Given the description of an element on the screen output the (x, y) to click on. 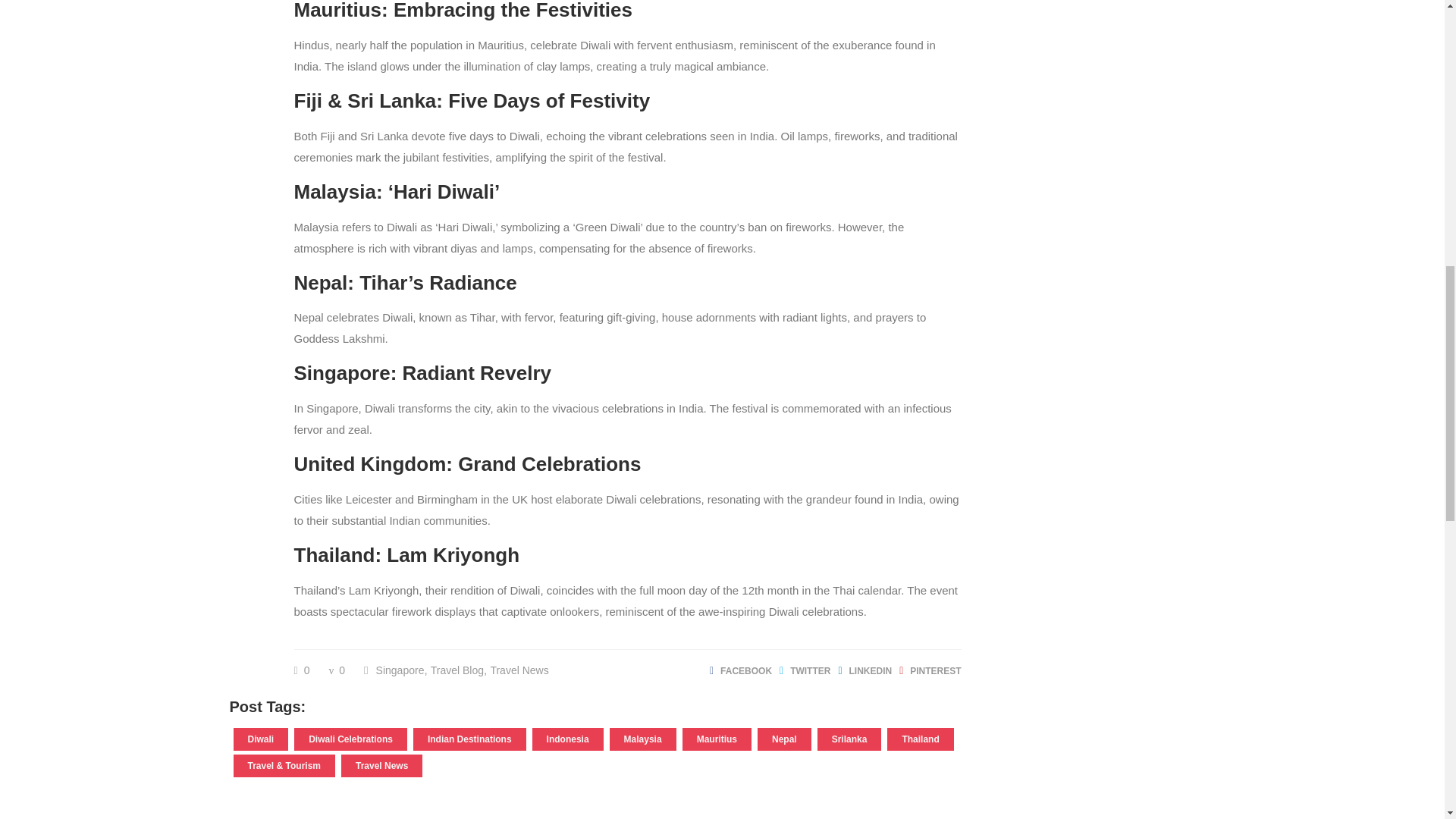
Like this (302, 670)
